Given the description of an element on the screen output the (x, y) to click on. 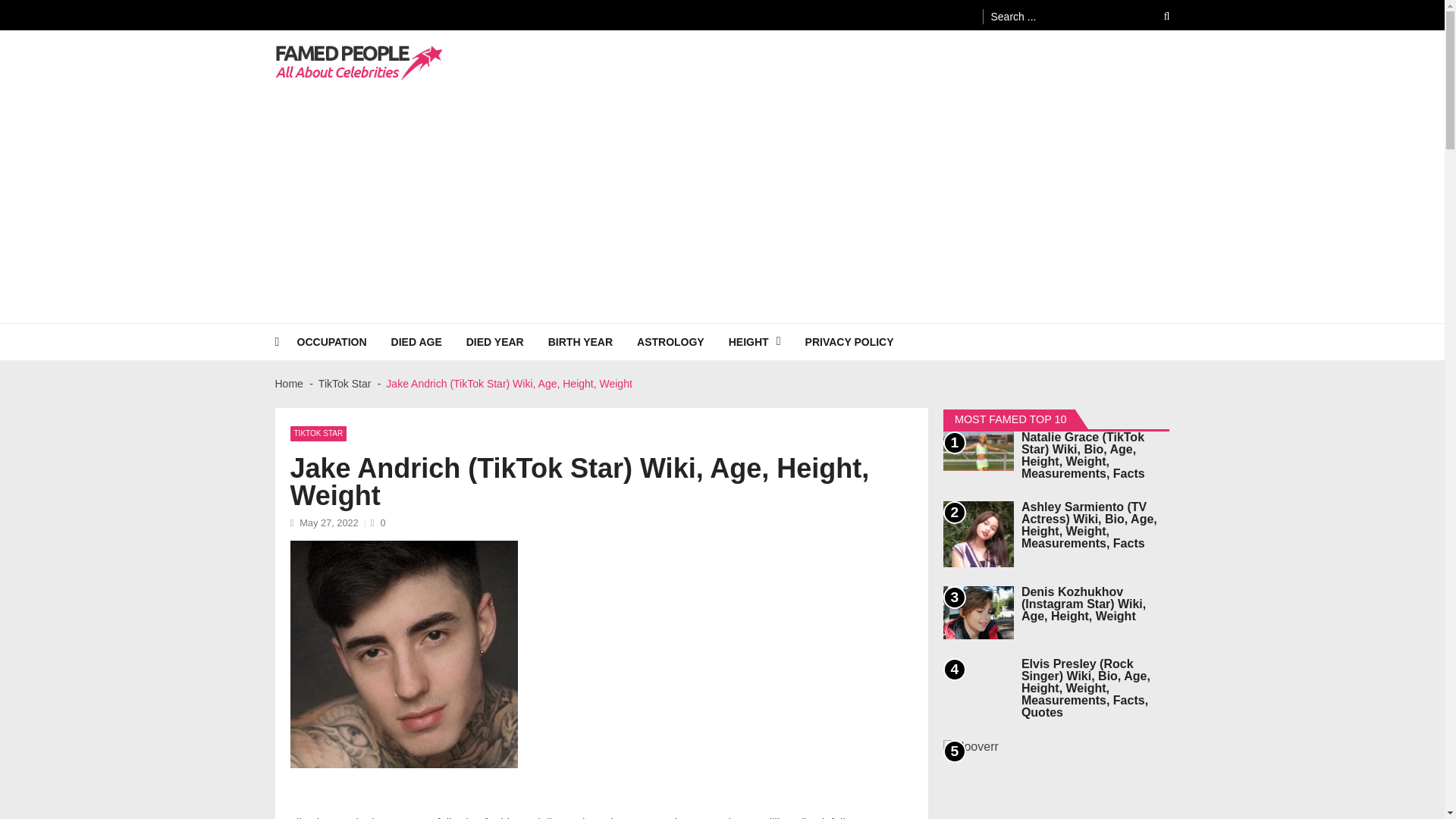
TikTok Star (344, 383)
OCCUPATION (344, 341)
BIRTH YEAR (592, 341)
Search (1156, 15)
Search (1156, 15)
DIED YEAR (506, 341)
HEIGHT (767, 341)
DIED AGE (428, 341)
PRIVACY POLICY (861, 341)
